Given the description of an element on the screen output the (x, y) to click on. 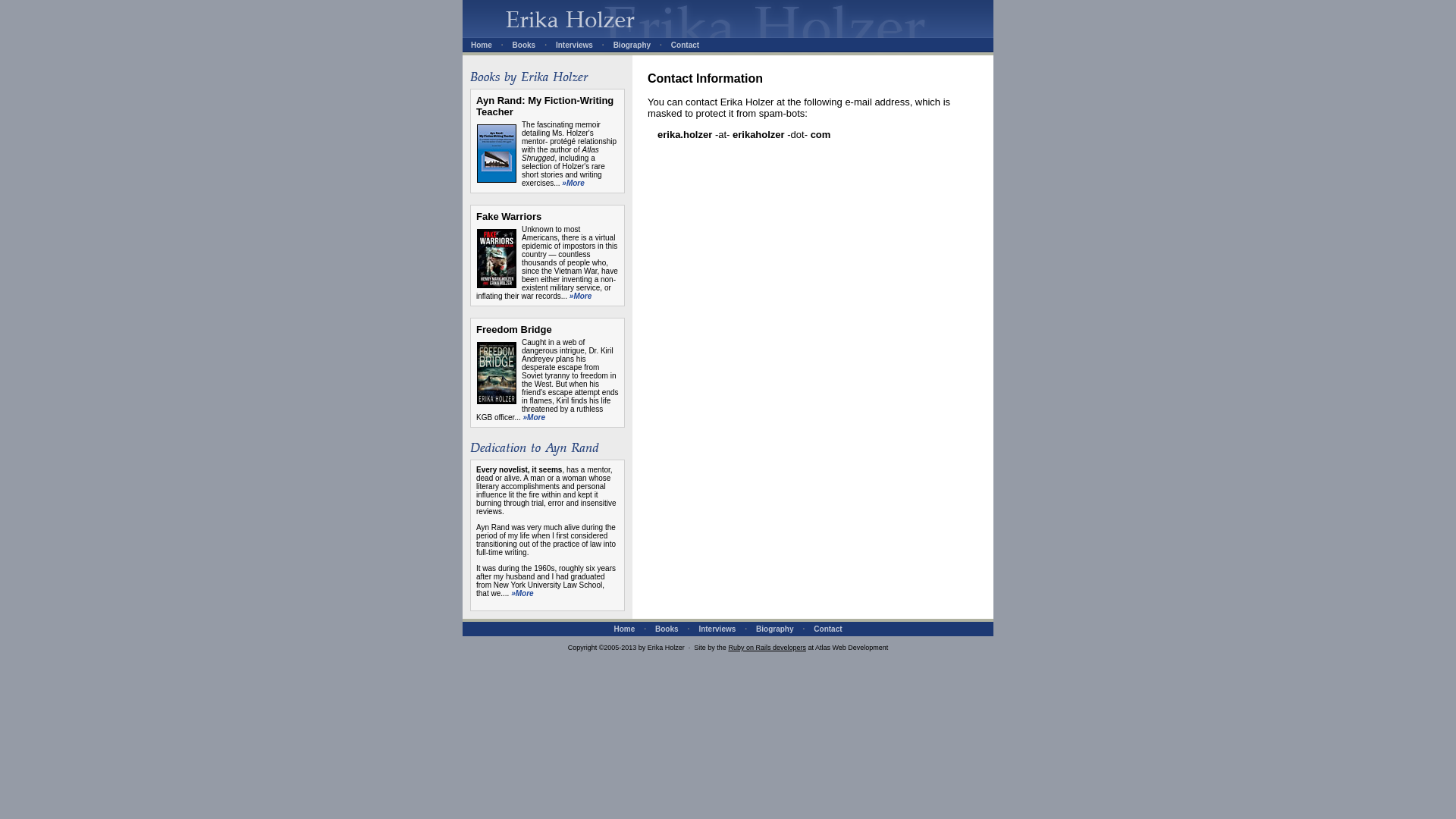
Freedom Bridge (513, 328)
Interviews (574, 44)
Home (481, 44)
Books (666, 628)
Fake Warriors (508, 215)
Biography (631, 44)
Interviews (716, 628)
Home (623, 628)
Contact (827, 628)
Biography (774, 628)
Ayn Rand: My Fiction-Writing Teacher (544, 106)
Books (523, 44)
Contact (684, 44)
